Given the description of an element on the screen output the (x, y) to click on. 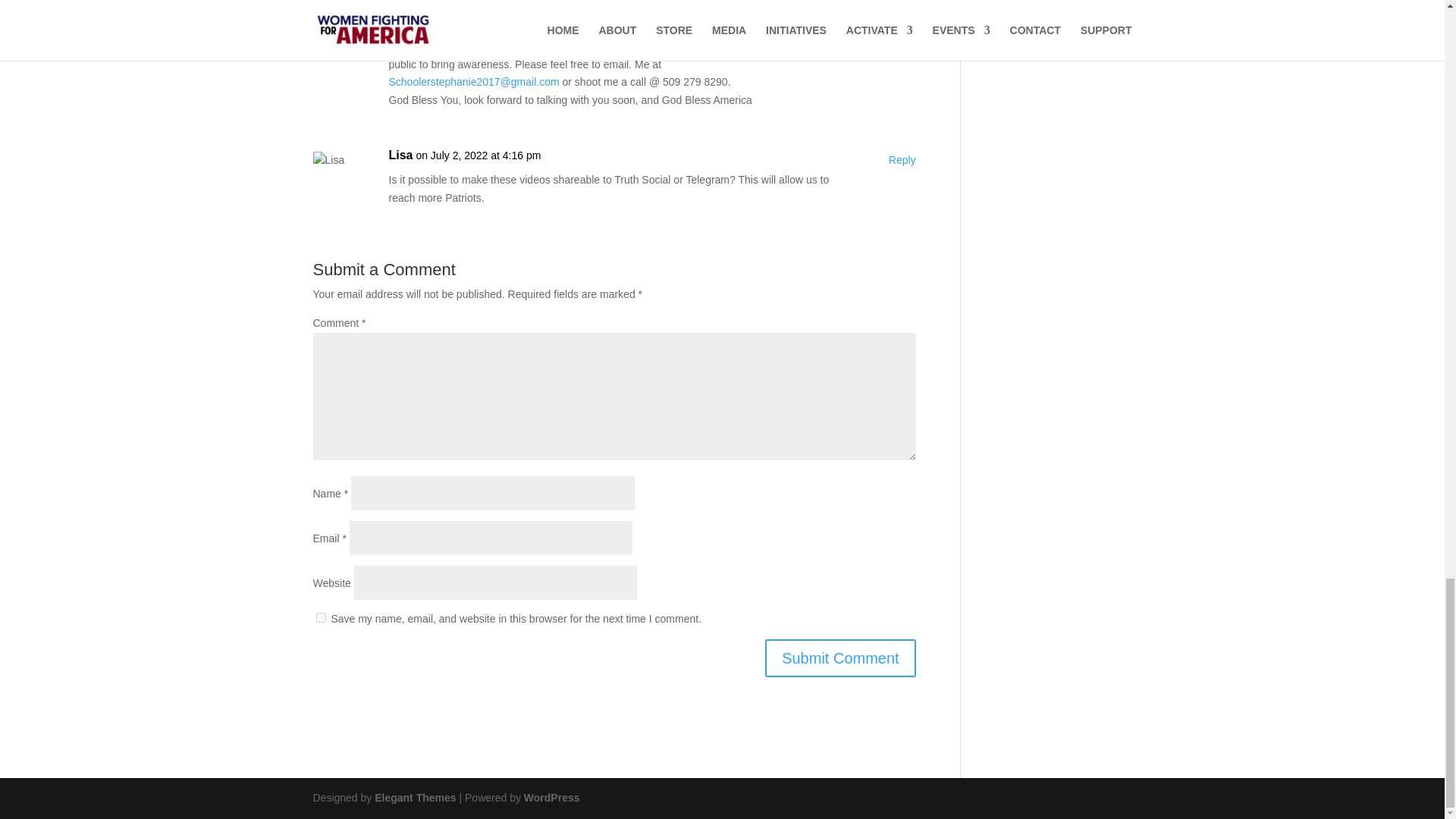
Submit Comment (840, 658)
Premium WordPress Themes (414, 797)
yes (319, 617)
